Given the description of an element on the screen output the (x, y) to click on. 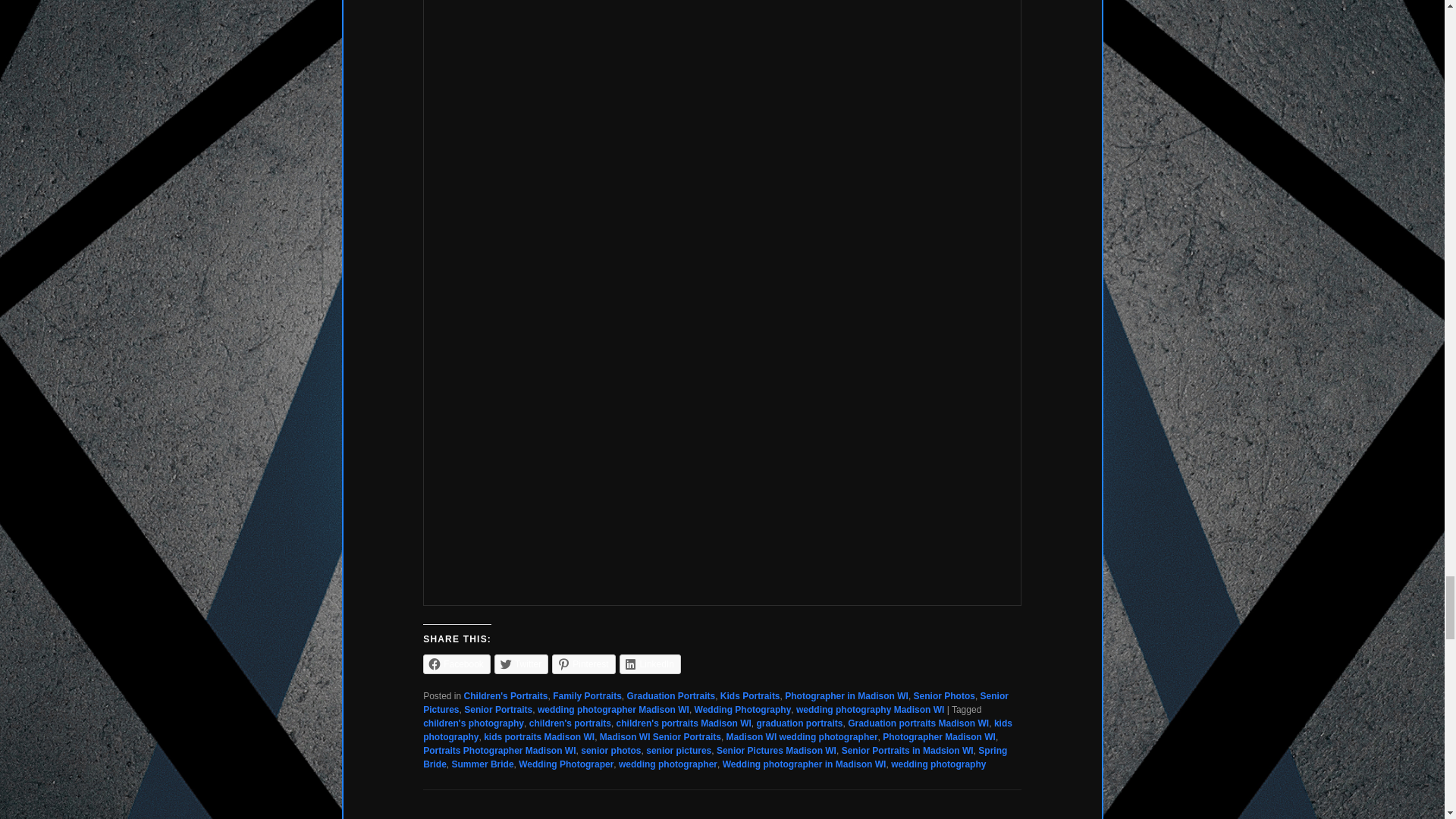
Click to share on Facebook (456, 664)
Click to share on Twitter (521, 664)
